Given the description of an element on the screen output the (x, y) to click on. 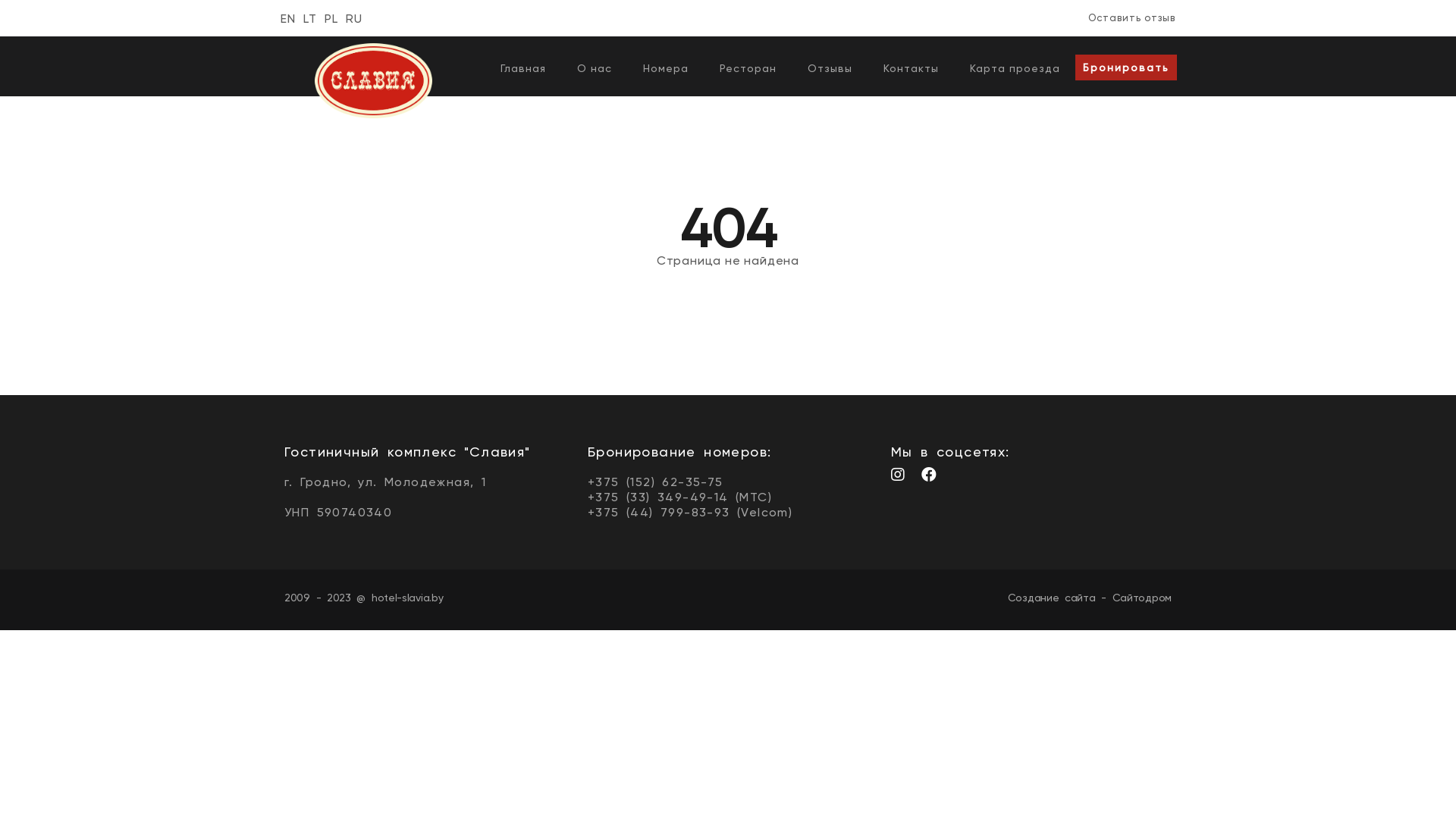
+375 (33) 349-49-14 Element type: text (657, 496)
+375 (152) 62-35-75 Element type: text (655, 481)
EN Element type: text (287, 18)
LT Element type: text (309, 18)
PL Element type: text (331, 18)
+375 (44) 799-83-93 Element type: text (658, 512)
hotel-slavia.by Element type: text (407, 597)
RU Element type: text (353, 18)
